Given the description of an element on the screen output the (x, y) to click on. 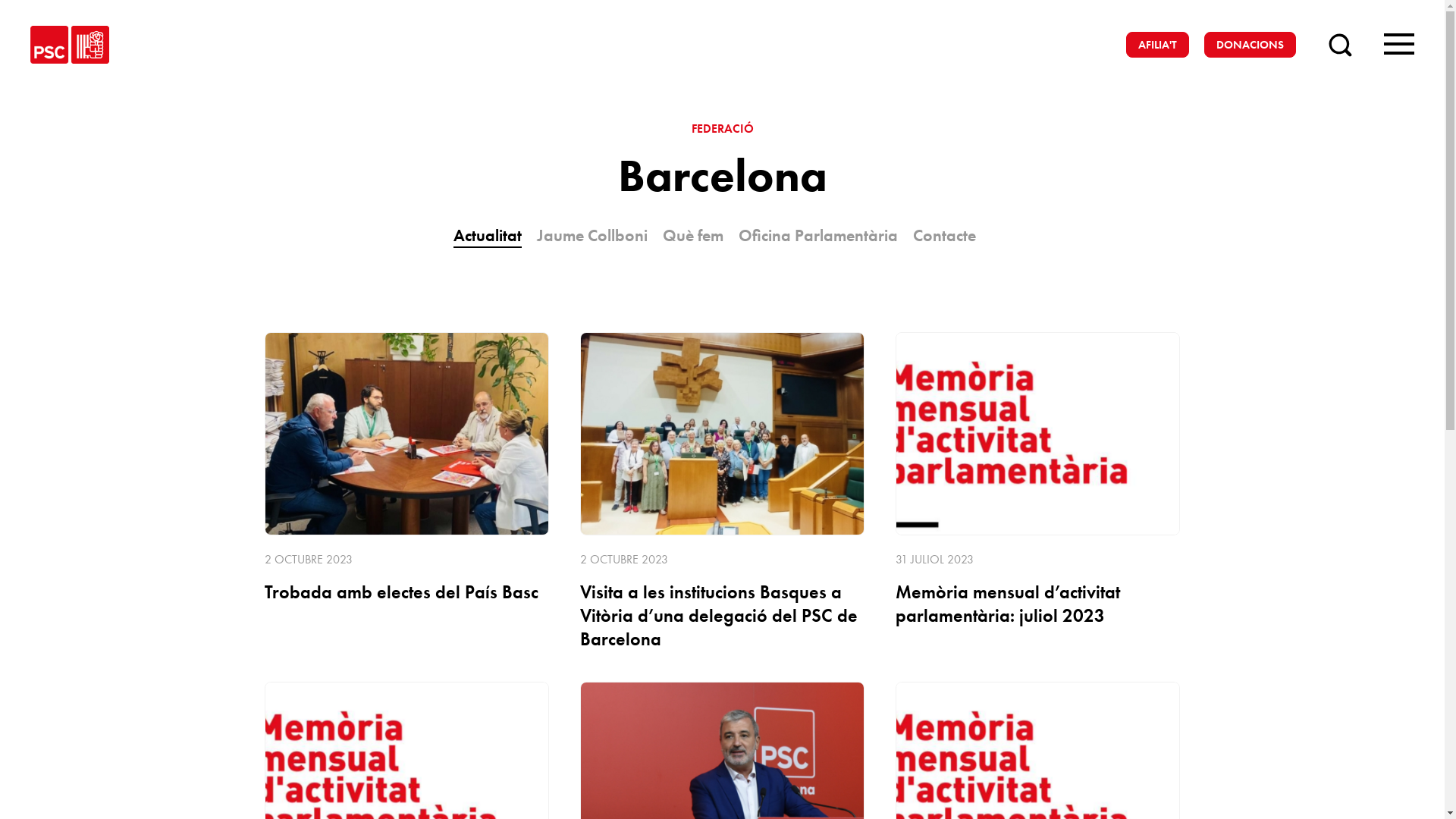
Govern Alternatiu Element type: text (499, 526)
DONACIONS Element type: text (1249, 44)
Salvador Illa Element type: text (477, 496)
Entitats Element type: text (835, 637)
Agenda Element type: text (653, 526)
Contacte Element type: text (656, 587)
Estructura Element type: text (843, 581)
Premsa Element type: text (651, 556)
Pensament Socialista Element type: text (1058, 610)
Joventut Socialista de Catalunya Element type: text (1084, 553)
Coneix-nos Element type: text (848, 552)
Qui som? Element type: text (843, 495)
Actualitat Element type: text (659, 496)
Jaume Collboni Element type: text (591, 235)
Propostes Element type: text (465, 556)
AFILIA'T Element type: text (1157, 44)
Compliance Element type: text (851, 694)
Contacte Element type: text (944, 235)
Actualitat Element type: text (487, 235)
